Given the description of an element on the screen output the (x, y) to click on. 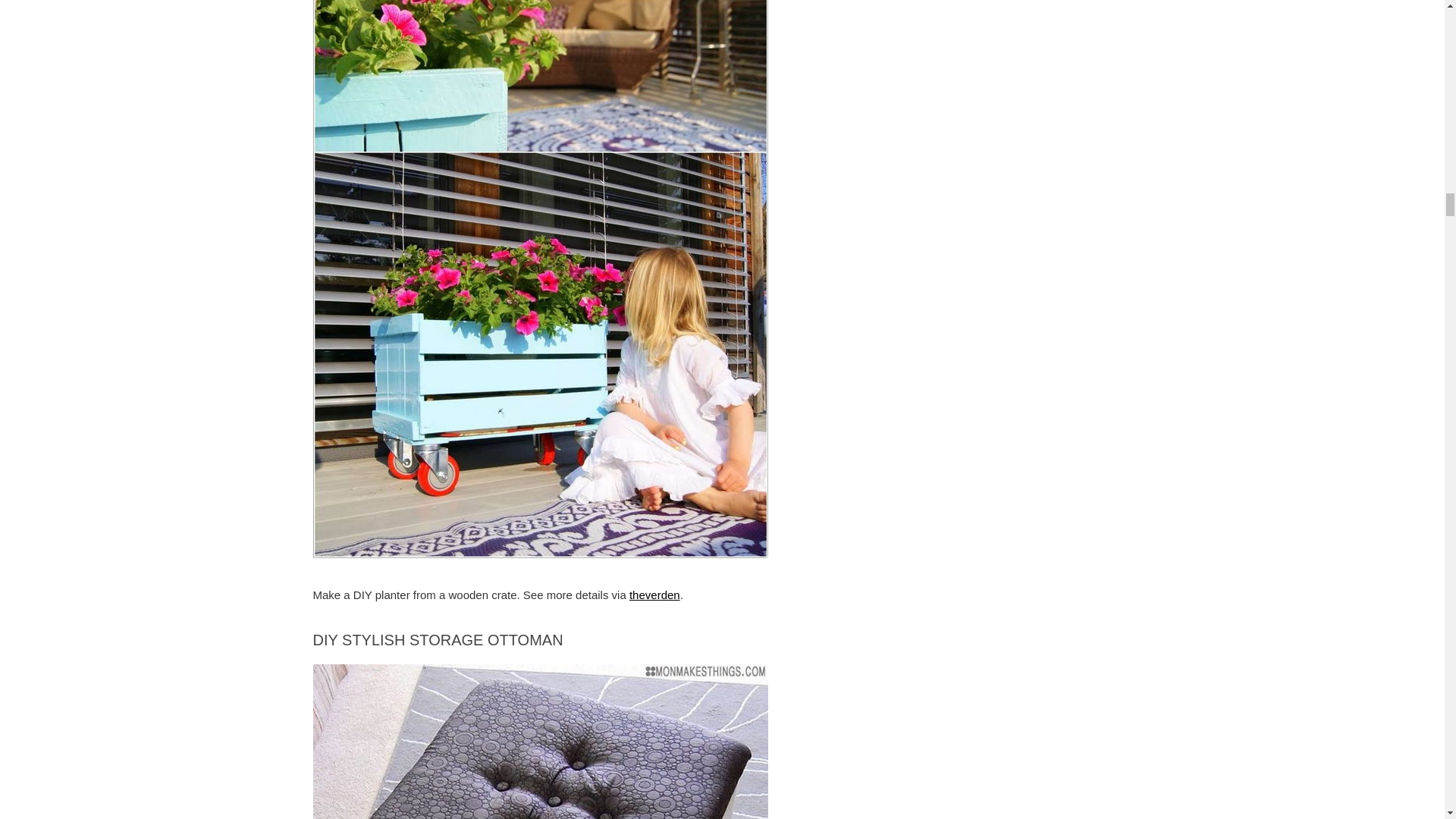
theverden (653, 594)
